Given the description of an element on the screen output the (x, y) to click on. 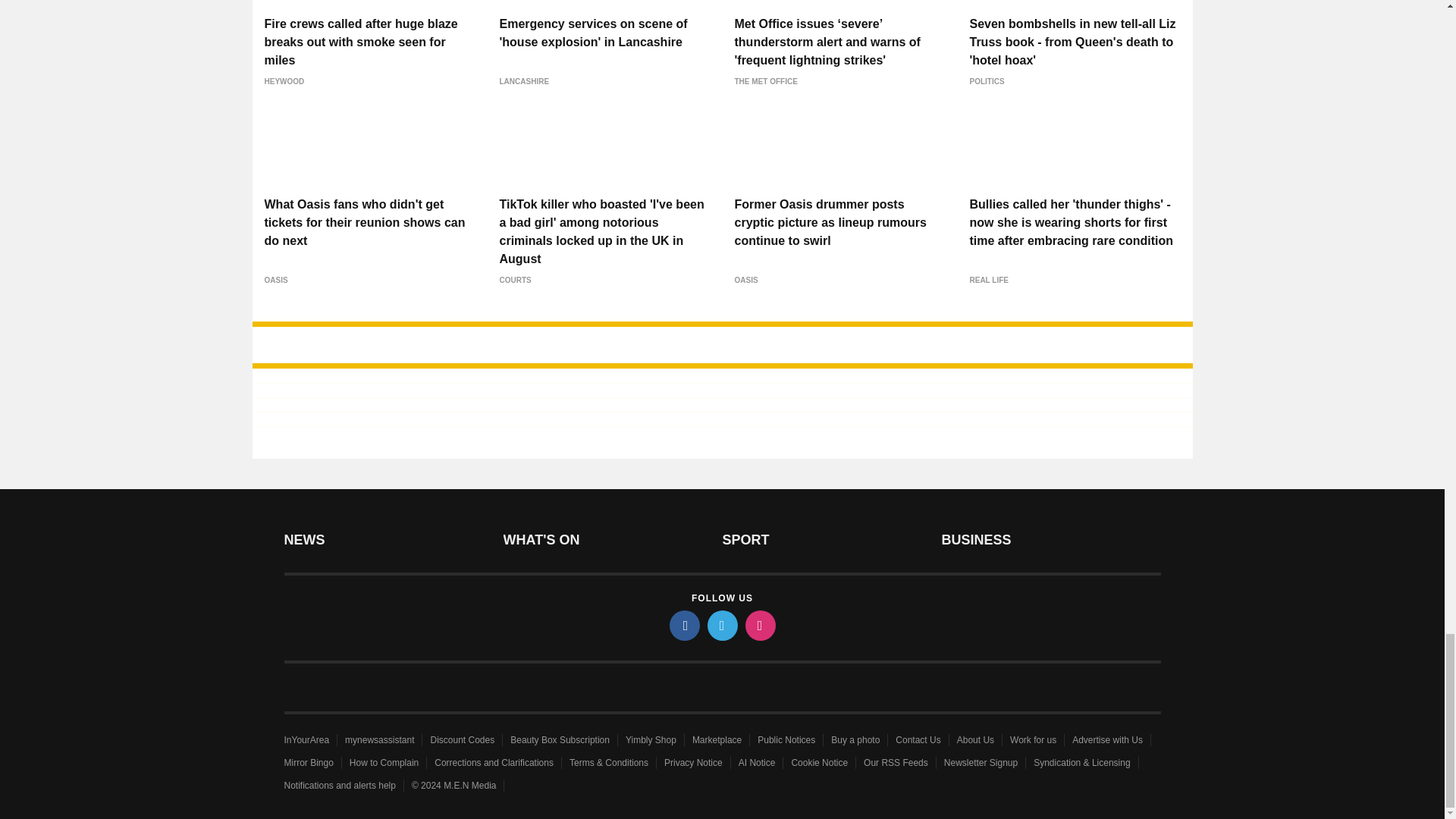
instagram (759, 625)
twitter (721, 625)
facebook (683, 625)
